Given the description of an element on the screen output the (x, y) to click on. 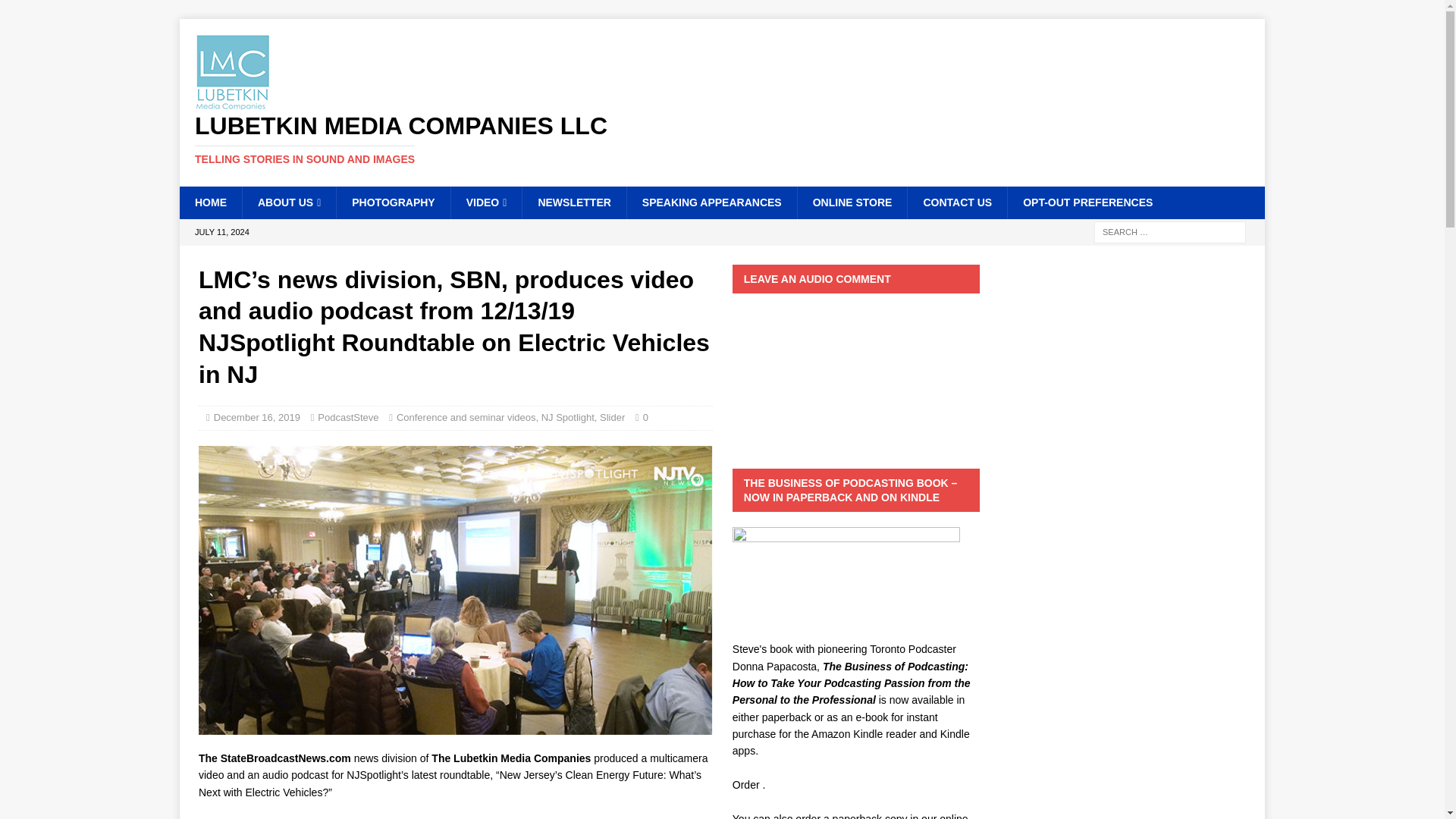
CONTACT US (957, 202)
Search (56, 11)
ONLINE STORE (851, 202)
NEWSLETTER (573, 202)
SPEAKING APPEARANCES (711, 202)
PHOTOGRAPHY (392, 202)
ABOUT US (288, 202)
Slider (611, 417)
